Given the description of an element on the screen output the (x, y) to click on. 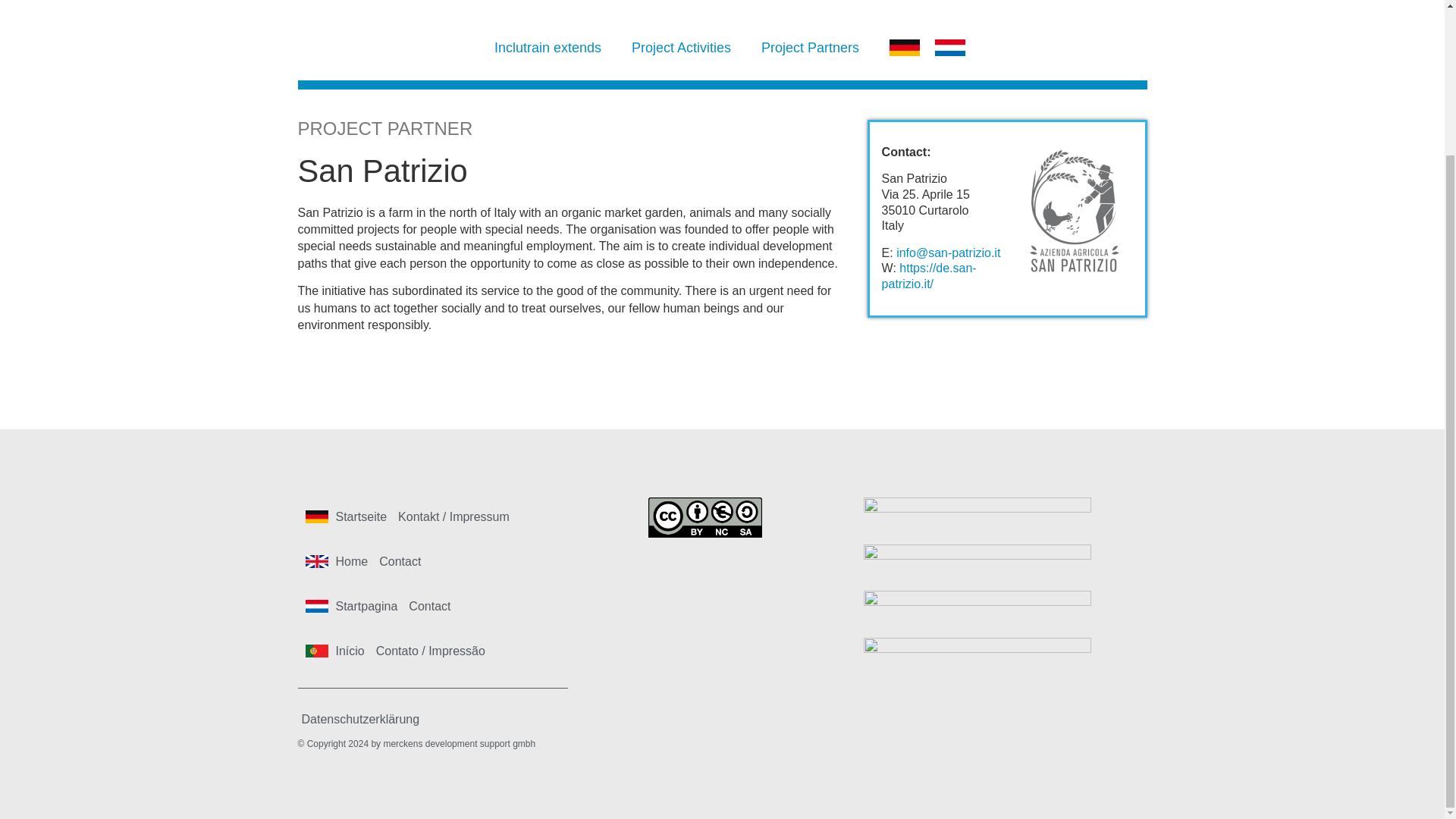
Inclutrain extends (547, 47)
Project Activities (680, 47)
Startseite (361, 516)
Home (351, 560)
Project Partners (810, 47)
